Given the description of an element on the screen output the (x, y) to click on. 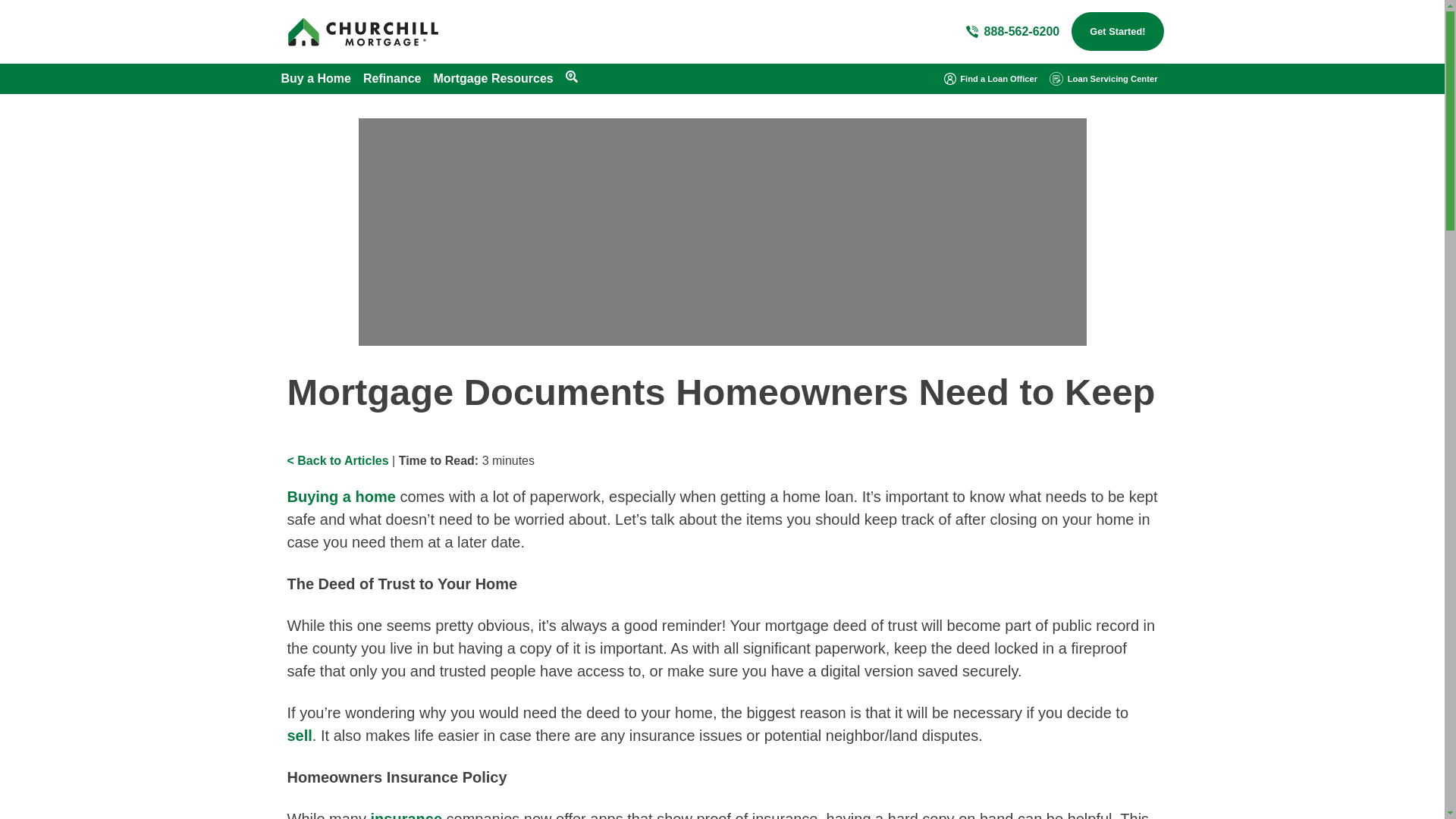
Buying a home (340, 496)
Get Started! (1117, 31)
Find a Loan Officer (990, 78)
search-location (572, 76)
888-562-6200 (1012, 31)
Loan Servicing Center (1103, 78)
sell (298, 735)
Mortgage Resources (492, 78)
insurance (406, 814)
Refinance (391, 78)
Buy a Home (315, 78)
